Given the description of an element on the screen output the (x, y) to click on. 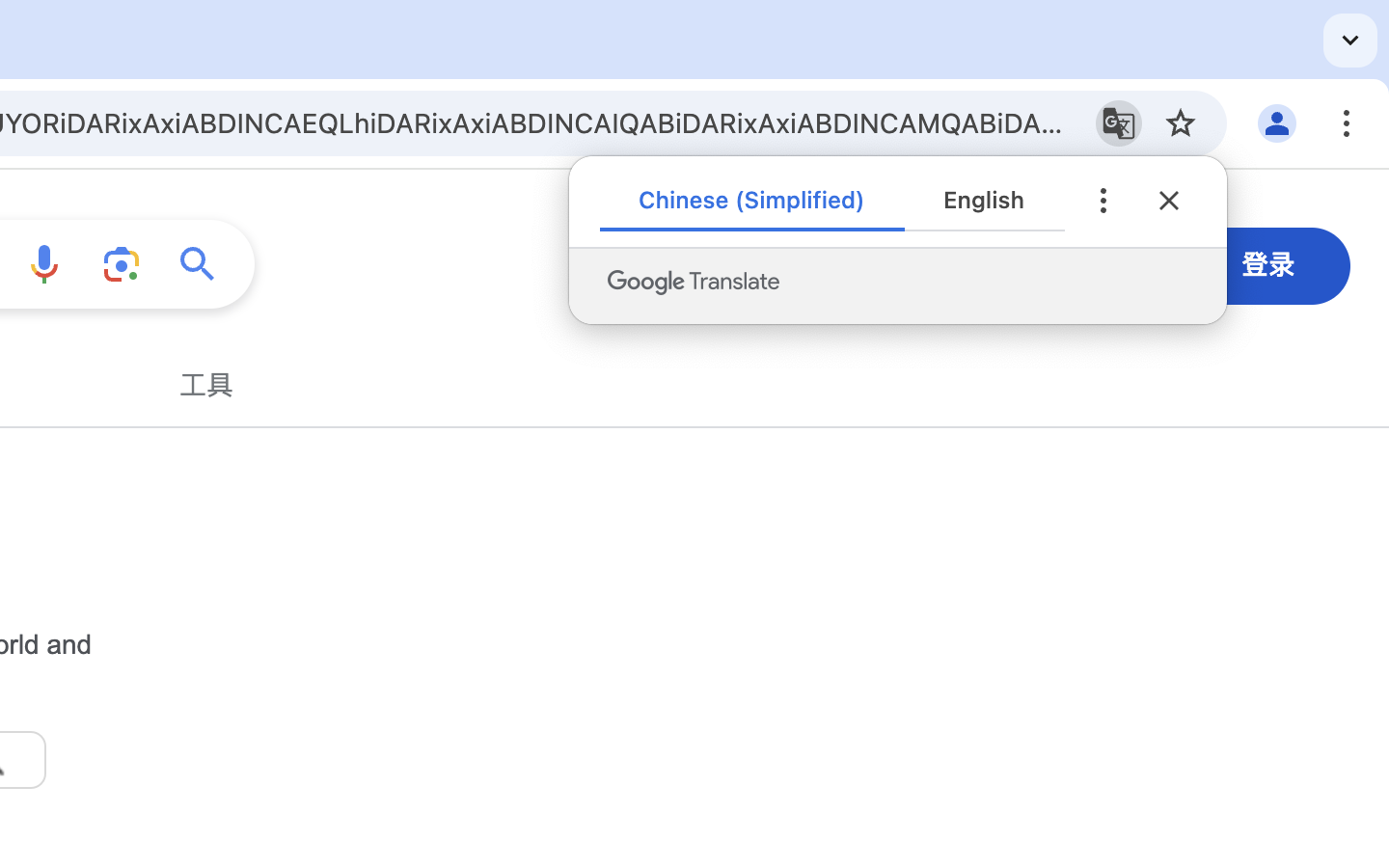
登录 Element type: AXStaticText (1269, 263)
False Element type: AXRadioButton (984, 200)
True Element type: AXRadioButton (751, 200)
